Given the description of an element on the screen output the (x, y) to click on. 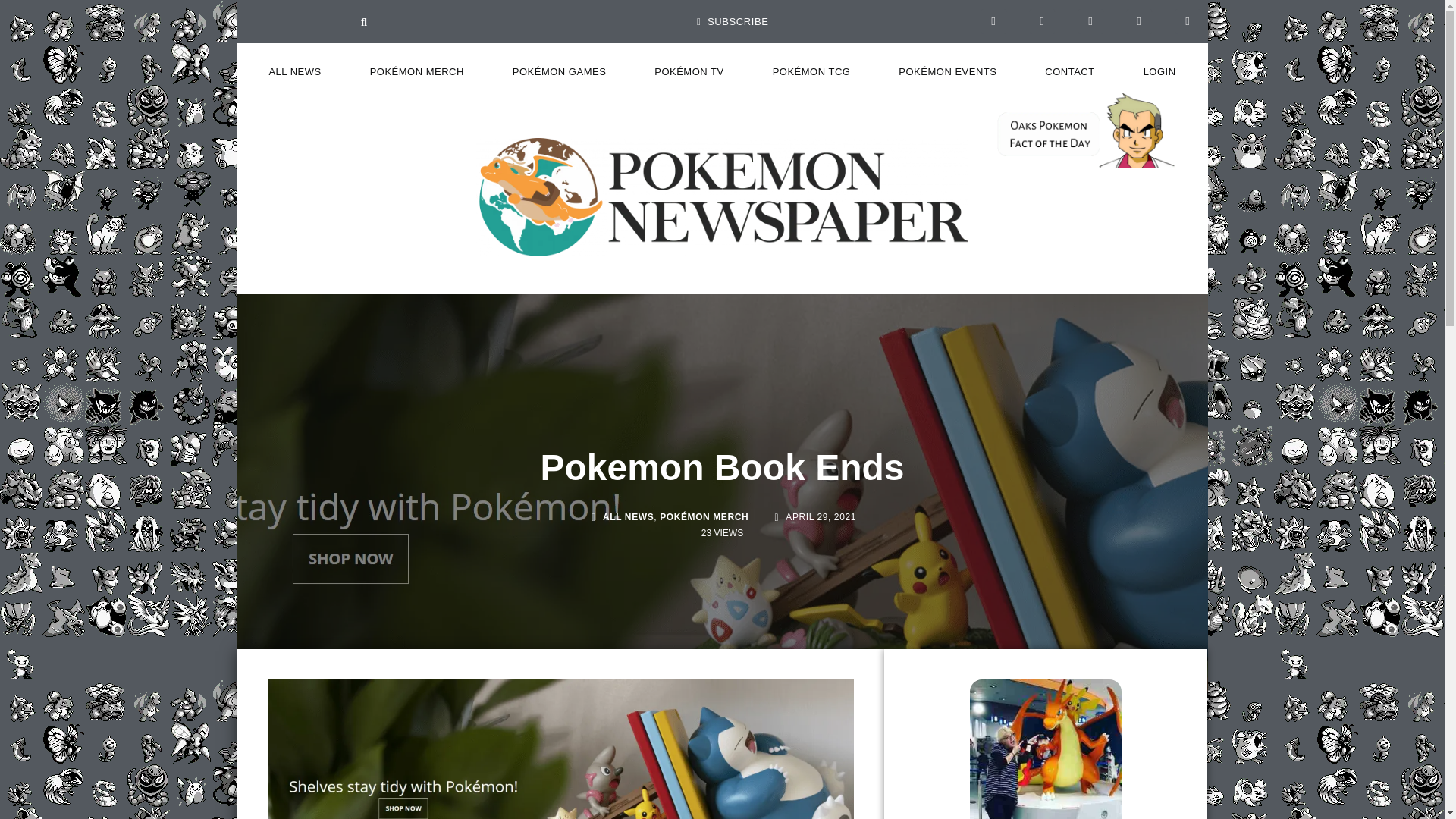
CONTACT (1069, 71)
LOGIN (1159, 71)
SUBSCRIBE (731, 21)
ALL NEWS (294, 71)
